Given the description of an element on the screen output the (x, y) to click on. 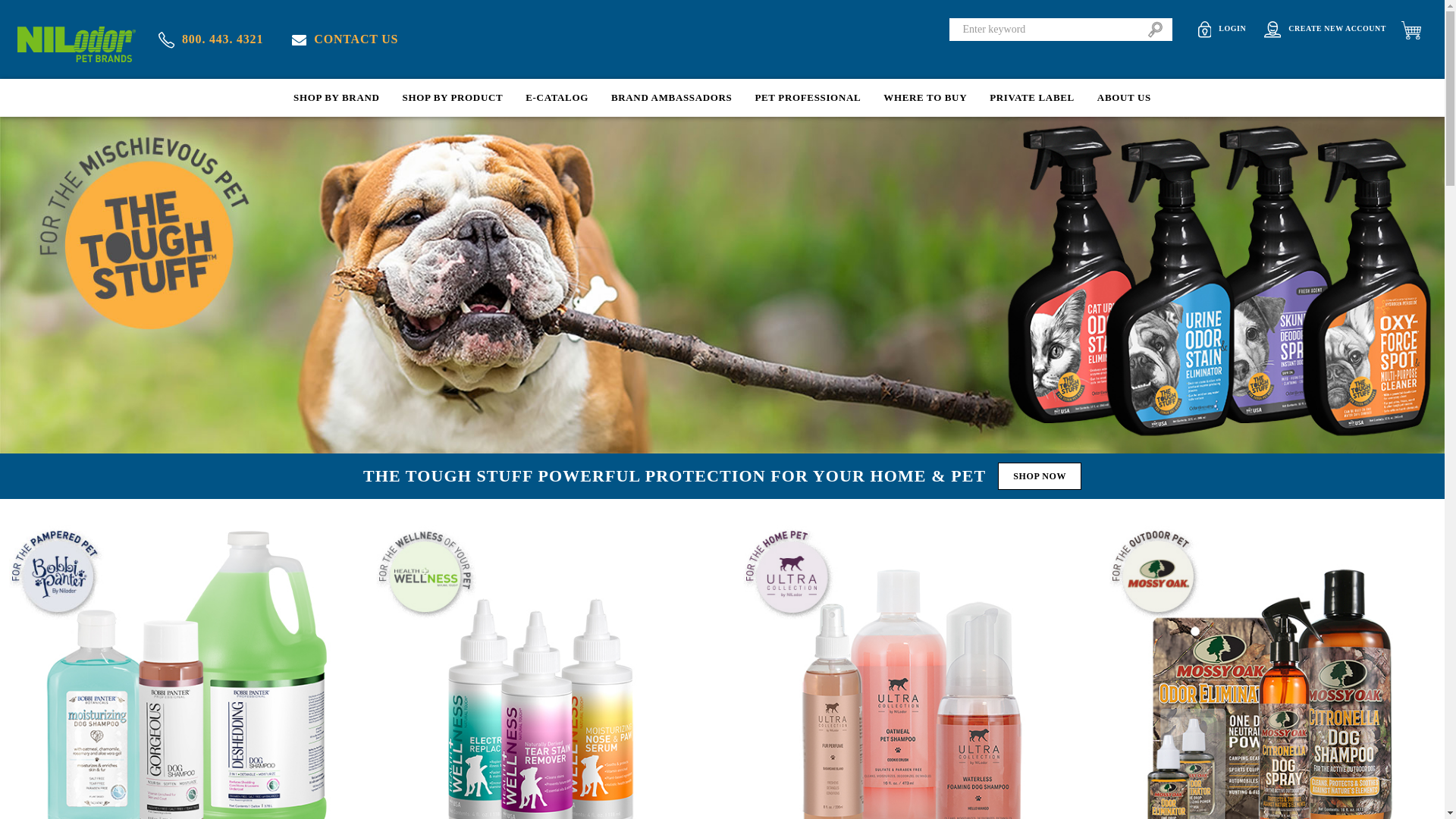
E-CATALOG (556, 97)
CONTACT US (345, 38)
800. 443. 4321 (211, 38)
SHOP BY BRAND (336, 97)
SHOP BY PRODUCT (453, 97)
Nilodor Pet Brands (76, 43)
CREATE NEW ACCOUNT (1324, 29)
BRAND AMBASSADORS (671, 97)
LOGIN (1222, 29)
